Given the description of an element on the screen output the (x, y) to click on. 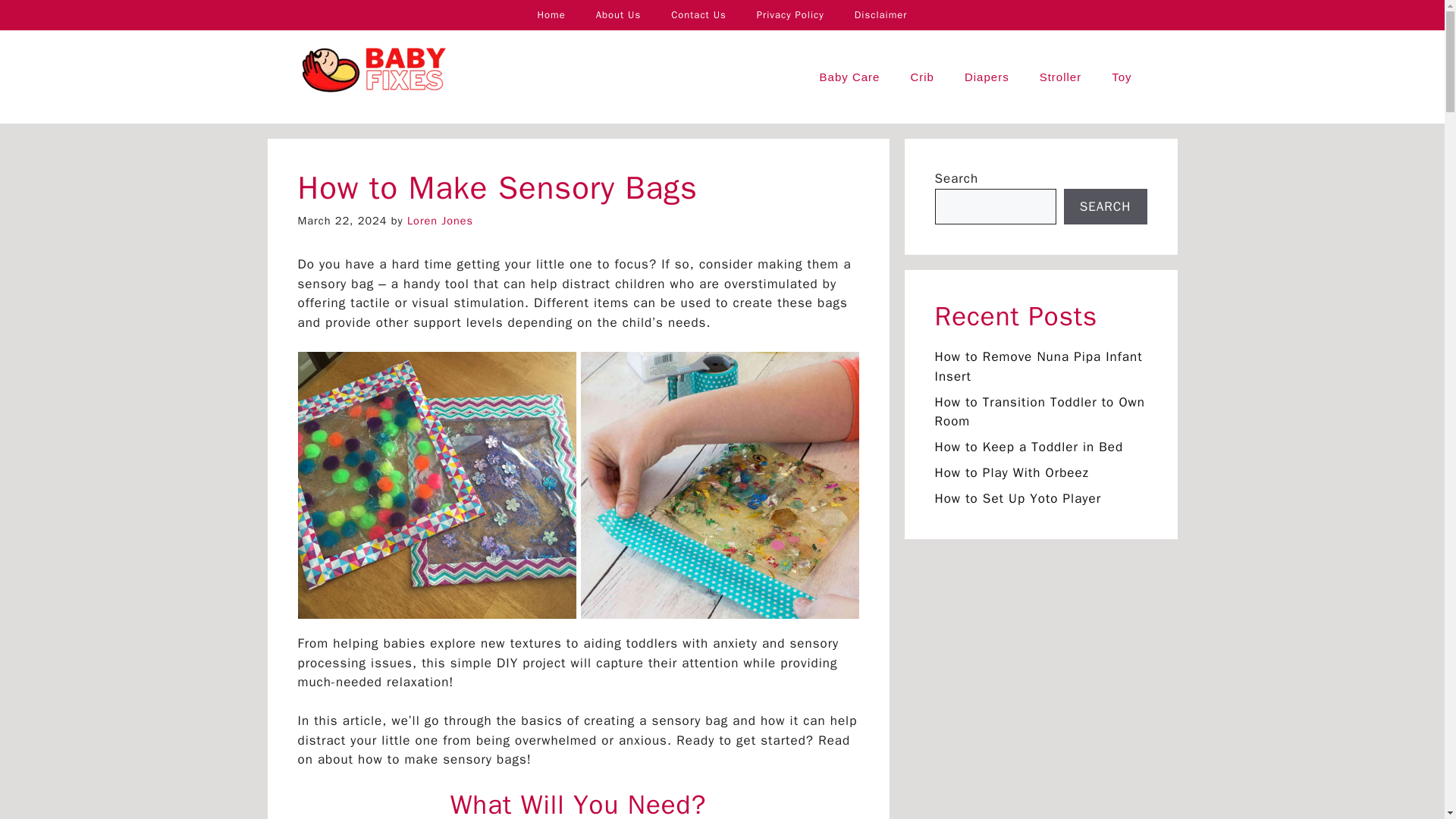
How to Set Up Yoto Player (1017, 498)
View all posts by Loren Jones (440, 220)
How to Remove Nuna Pipa Infant Insert (1037, 366)
Crib (922, 76)
Home (550, 15)
Toy (1121, 76)
Diapers (987, 76)
Privacy Policy (790, 15)
About Us (618, 15)
Stroller (1061, 76)
